Given the description of an element on the screen output the (x, y) to click on. 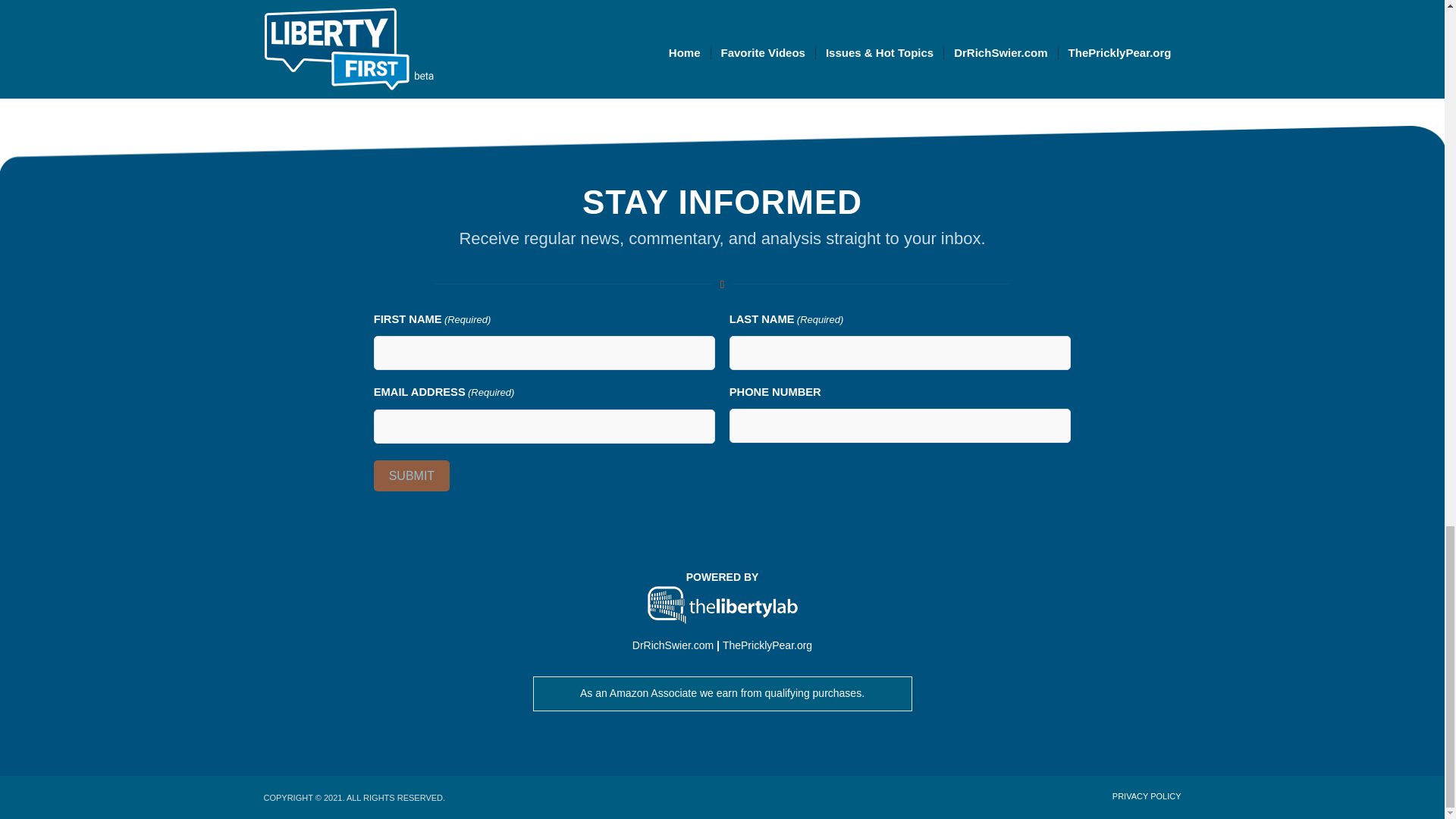
SUBMIT (411, 475)
